Given the description of an element on the screen output the (x, y) to click on. 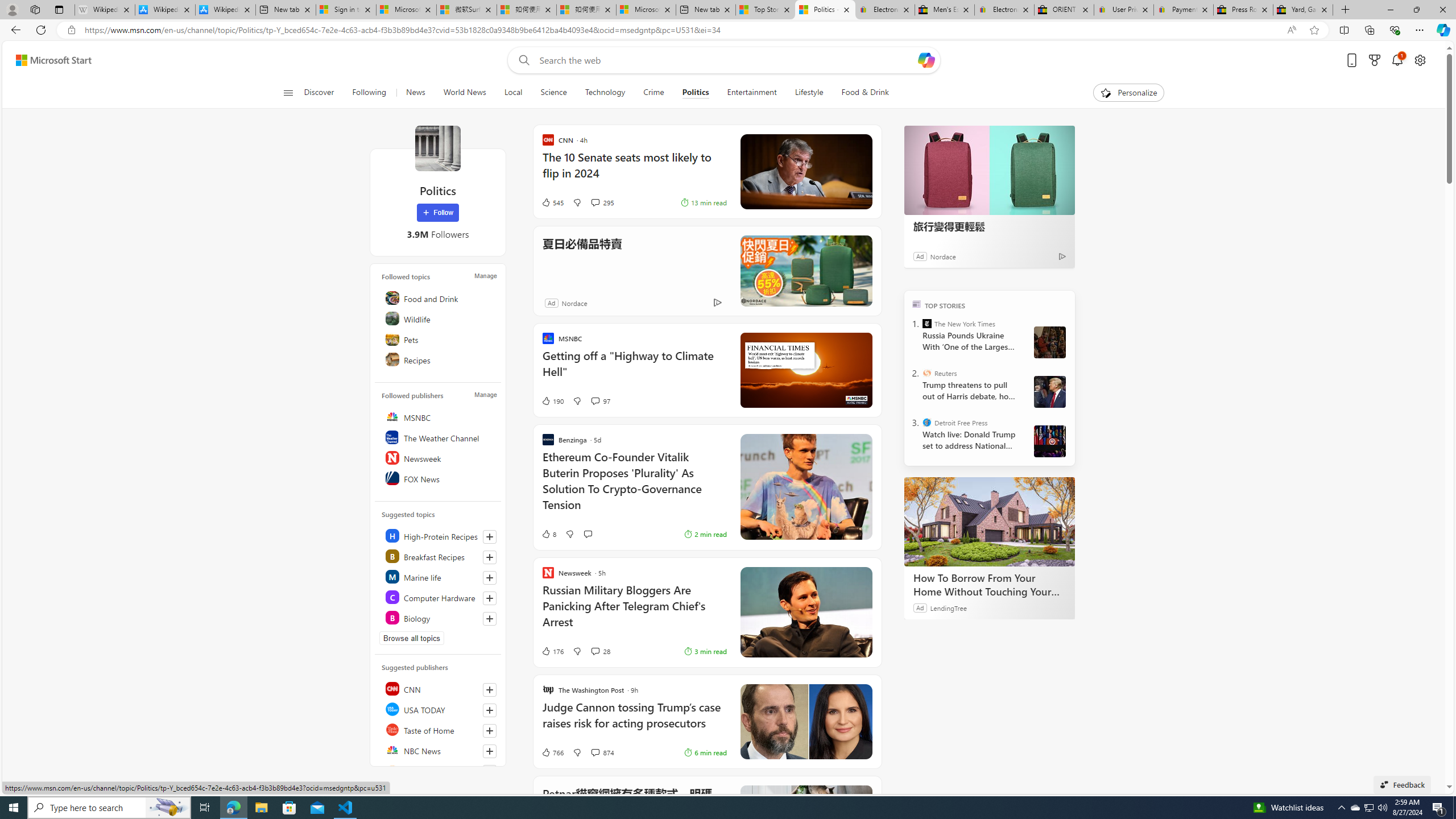
Food and Drink (439, 298)
8 Like (547, 533)
